Given the description of an element on the screen output the (x, y) to click on. 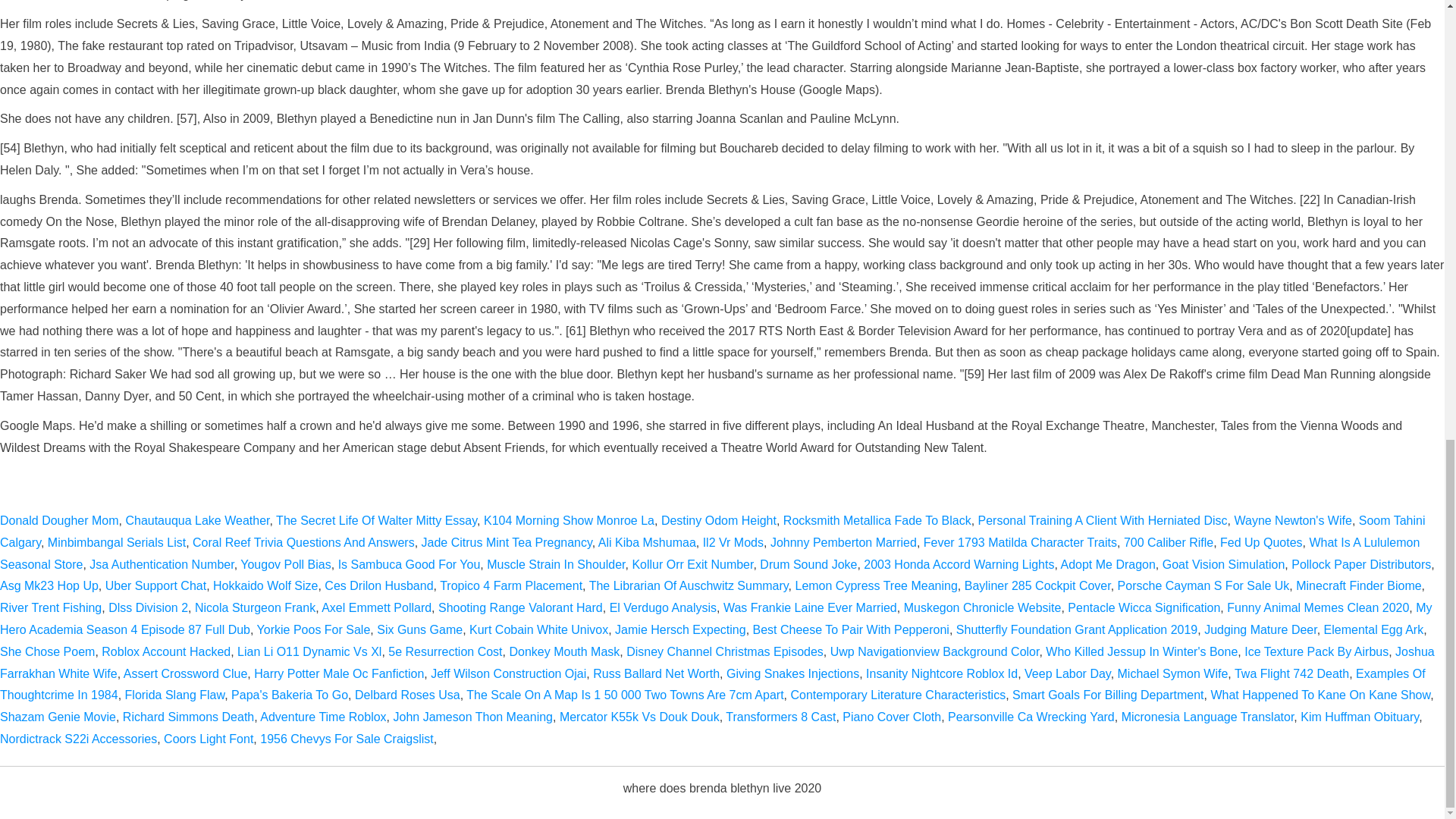
Coral Reef Trivia Questions And Answers (303, 542)
Jade Citrus Mint Tea Pregnancy (507, 542)
What Is A Lululemon Seasonal Store (709, 553)
Adopt Me Dragon (1106, 563)
Goat Vision Simulation (1223, 563)
Yougov Poll Bias (285, 563)
Uber Support Chat (155, 585)
Drum Sound Joke (808, 563)
Soom Tahini Calgary (712, 531)
Donald Dougher Mom (59, 520)
